Given the description of an element on the screen output the (x, y) to click on. 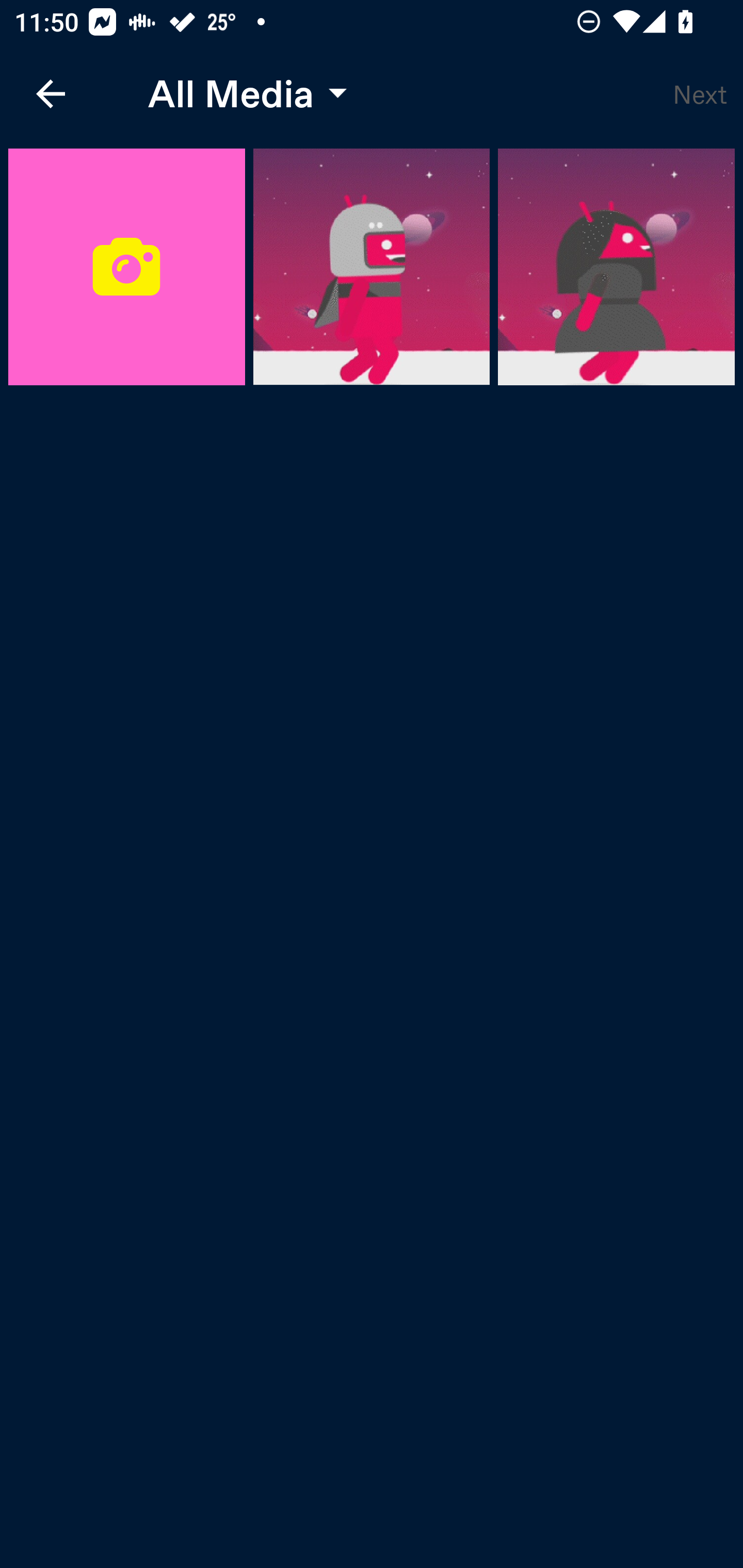
Navigate up (50, 93)
All Media (242, 93)
Next (699, 93)
Gallery Media Item image1 of 3 (371, 266)
Gallery Media Item image2 of 3 (615, 266)
